Given the description of an element on the screen output the (x, y) to click on. 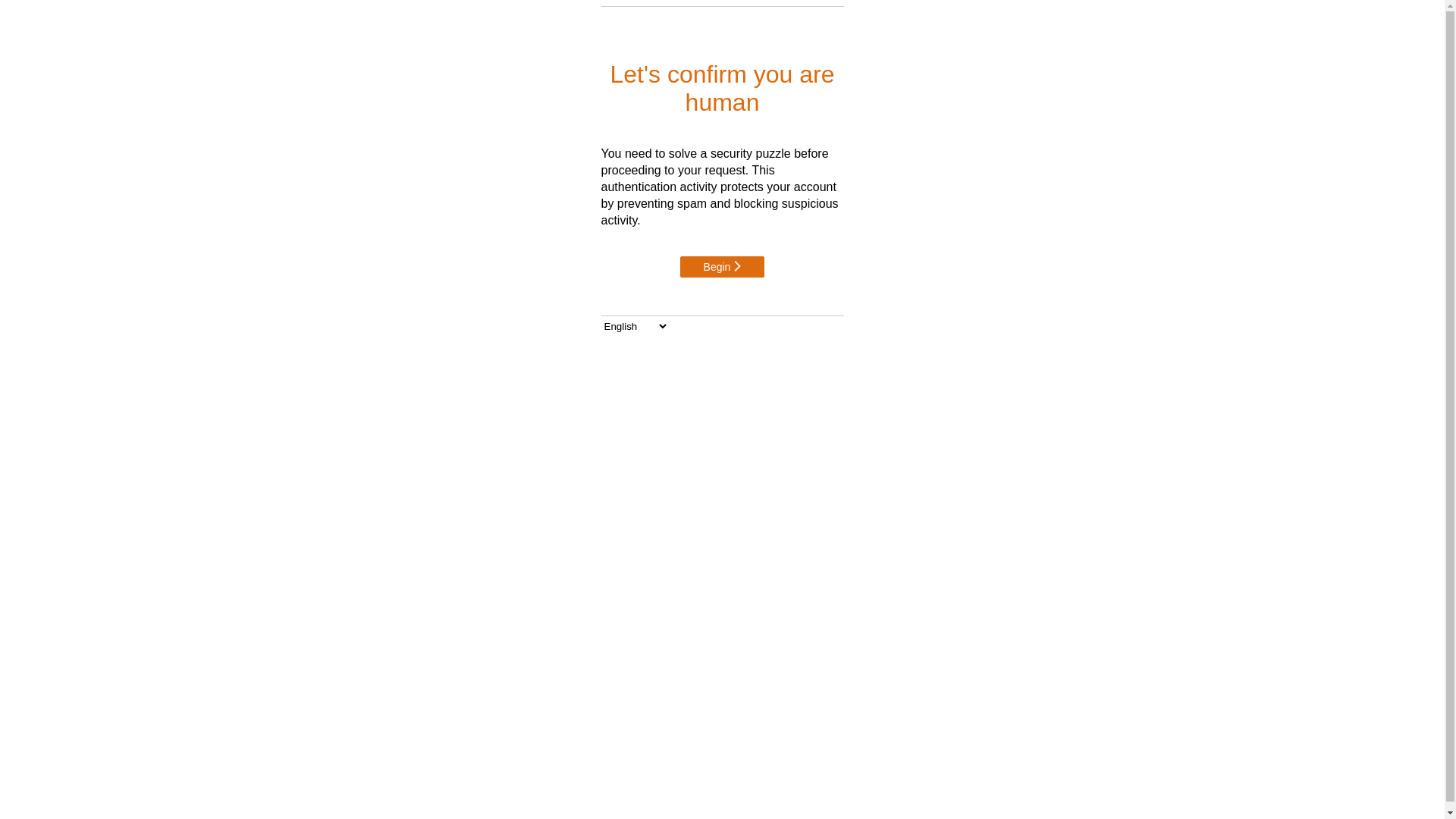
Begin Element type: text (722, 266)
